Given the description of an element on the screen output the (x, y) to click on. 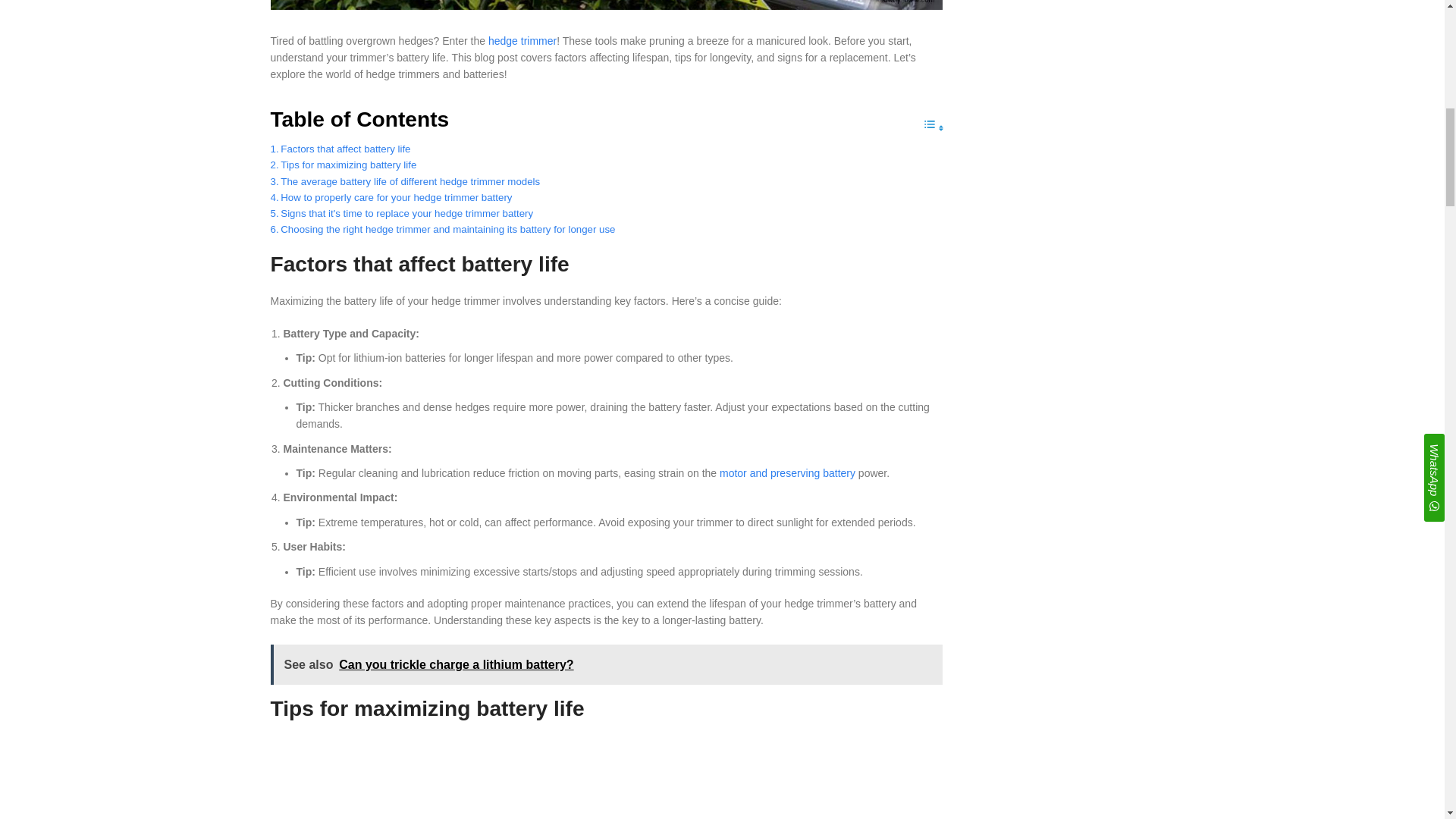
Factors that affect battery life (339, 148)
Tips for maximizing battery life (342, 164)
Signs that it's time to replace your hedge trimmer battery (400, 213)
The average battery life of different hedge trimmer models (404, 181)
How to properly care for your hedge trimmer battery (390, 197)
